Given the description of an element on the screen output the (x, y) to click on. 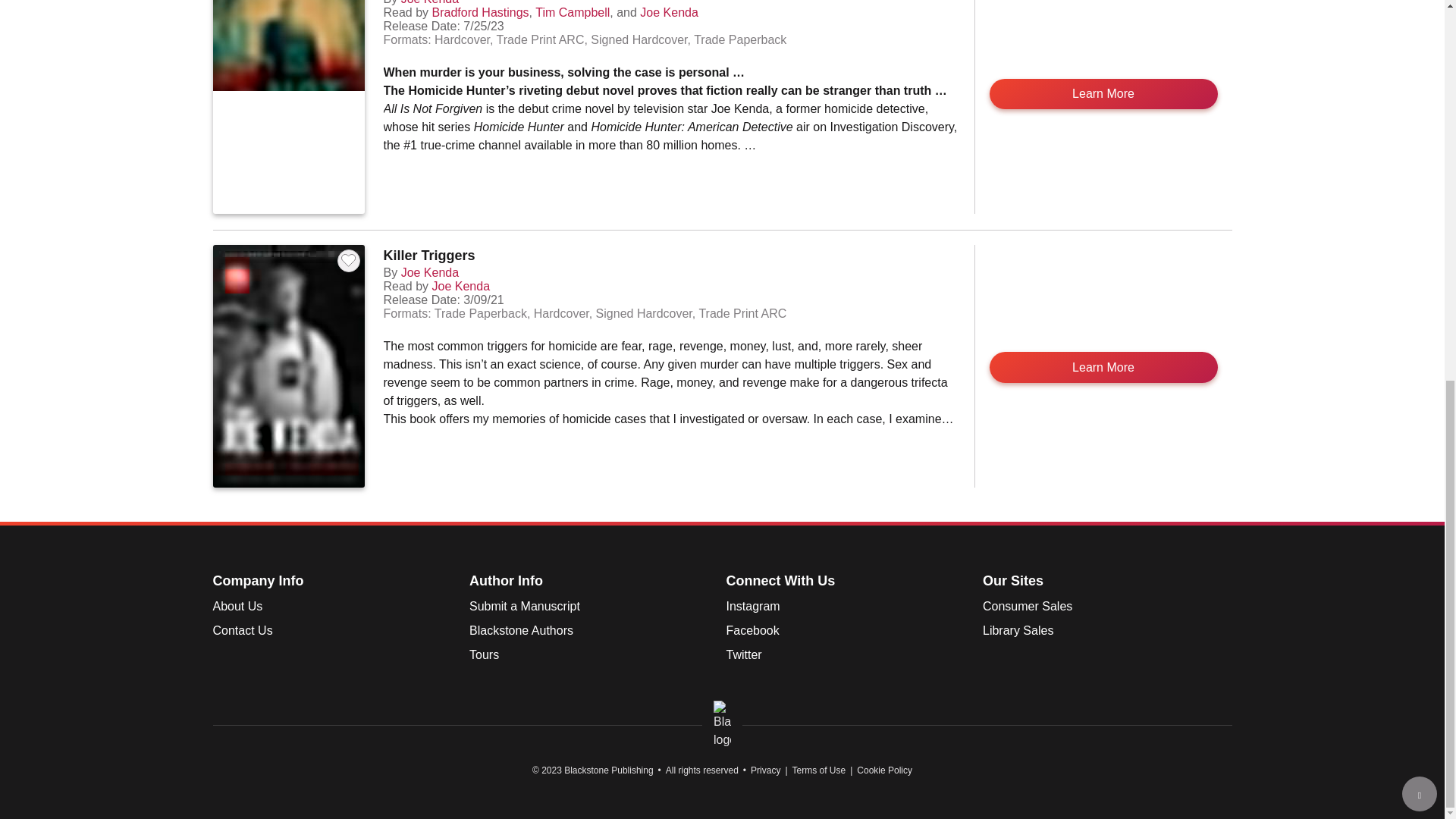
Bradford Hastings (480, 11)
Learn More (1102, 367)
Tim Campbell (572, 11)
Joe Kenda (430, 2)
Joe Kenda (669, 11)
Learn More (1102, 93)
